Given the description of an element on the screen output the (x, y) to click on. 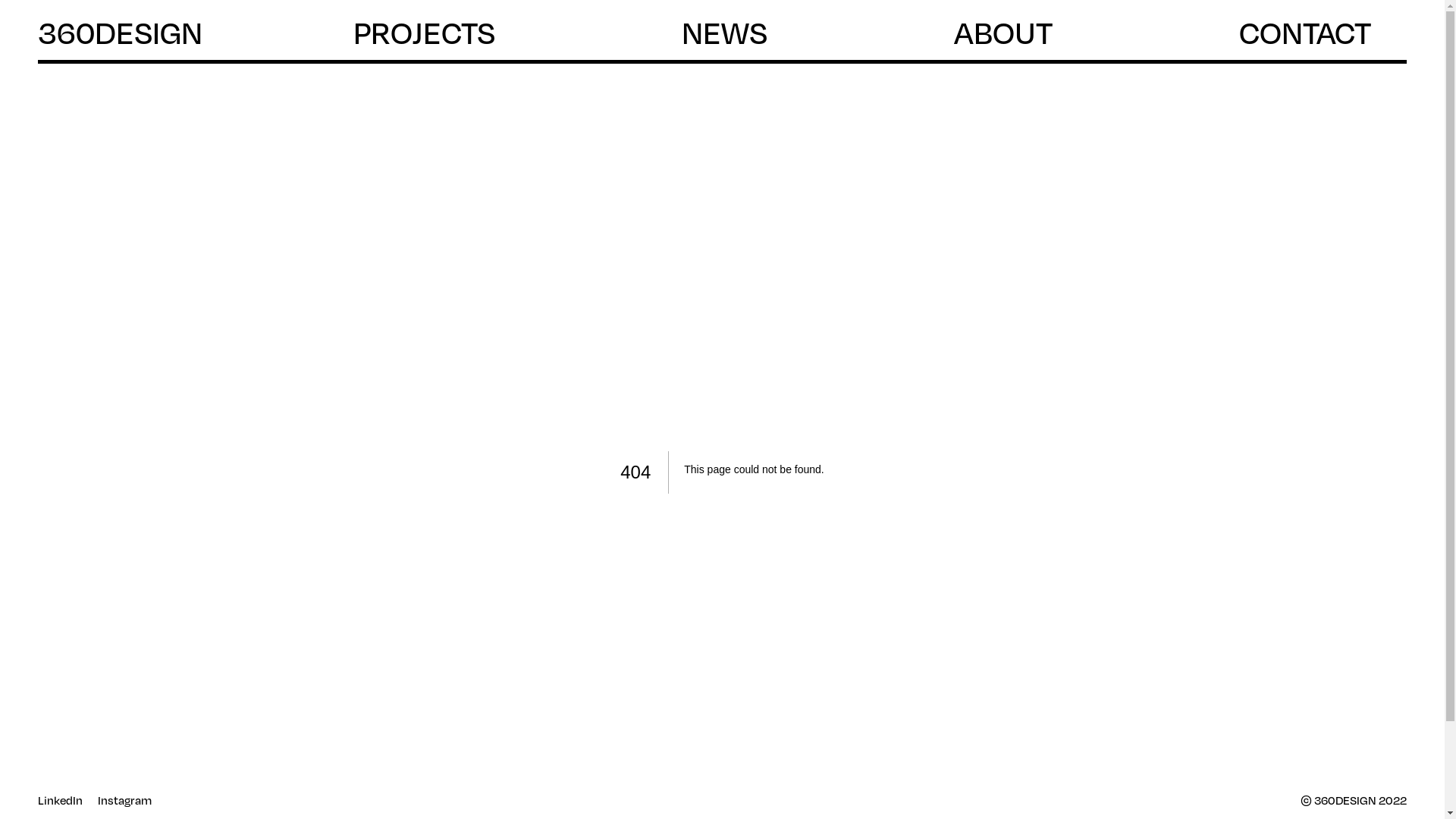
CONTACT Element type: text (1322, 32)
LinkedIn Element type: text (59, 799)
Instagram Element type: text (124, 799)
ABOUT Element type: text (1020, 32)
360DESIGN Element type: text (119, 32)
PROJECTS Element type: text (441, 32)
NEWS Element type: text (742, 32)
